Given the description of an element on the screen output the (x, y) to click on. 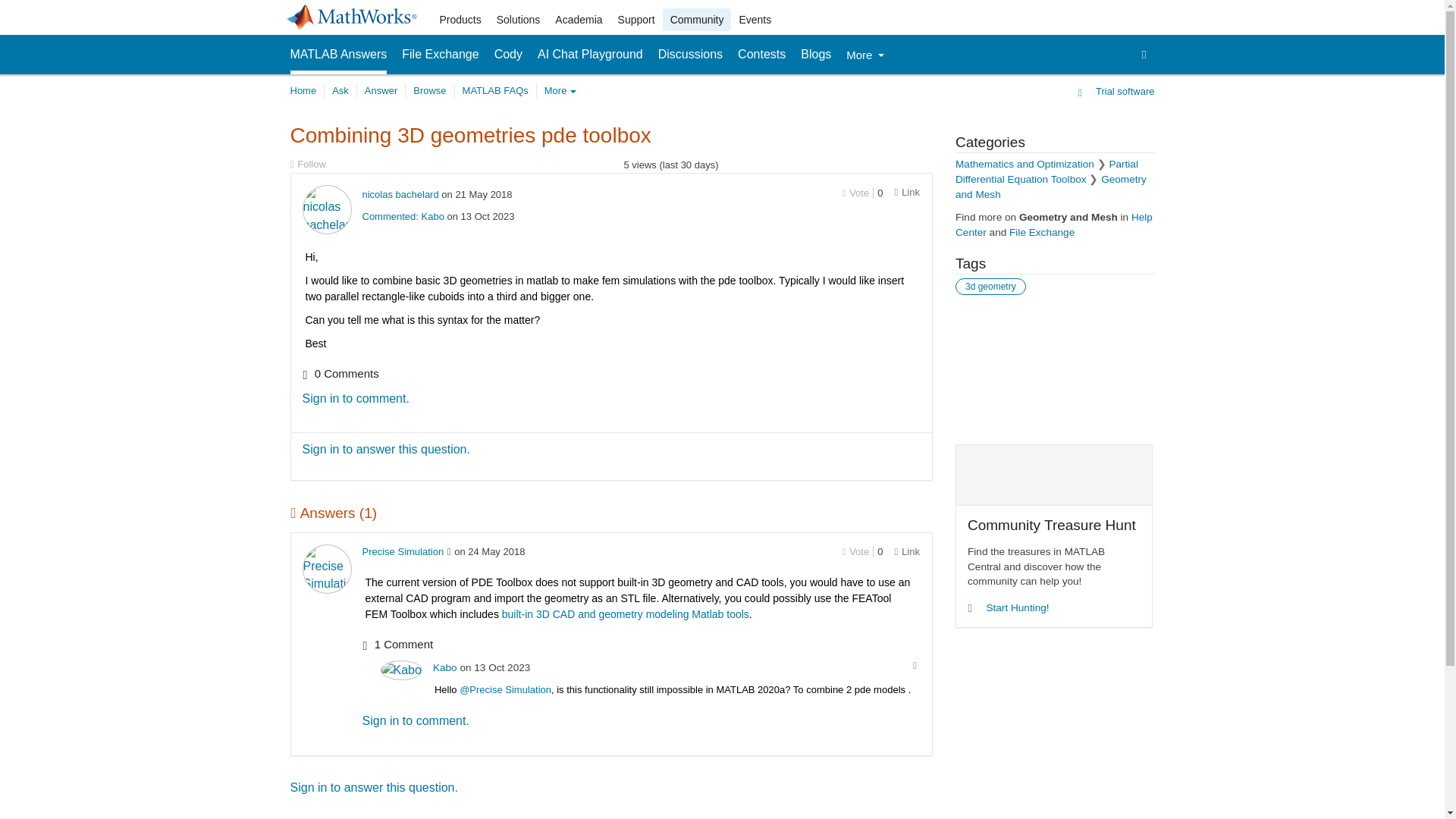
Community (697, 19)
MATLAB Answers (338, 54)
Products (460, 19)
File Exchange (440, 54)
Events (754, 19)
Sign in to vote for questions and answers (855, 551)
Cody (508, 54)
AI Chat Playground (590, 54)
Support (636, 19)
More (864, 54)
Academia (578, 19)
Direct link to this question (906, 192)
Contests (762, 54)
Direct link to this answer (906, 551)
Solutions (518, 19)
